Given the description of an element on the screen output the (x, y) to click on. 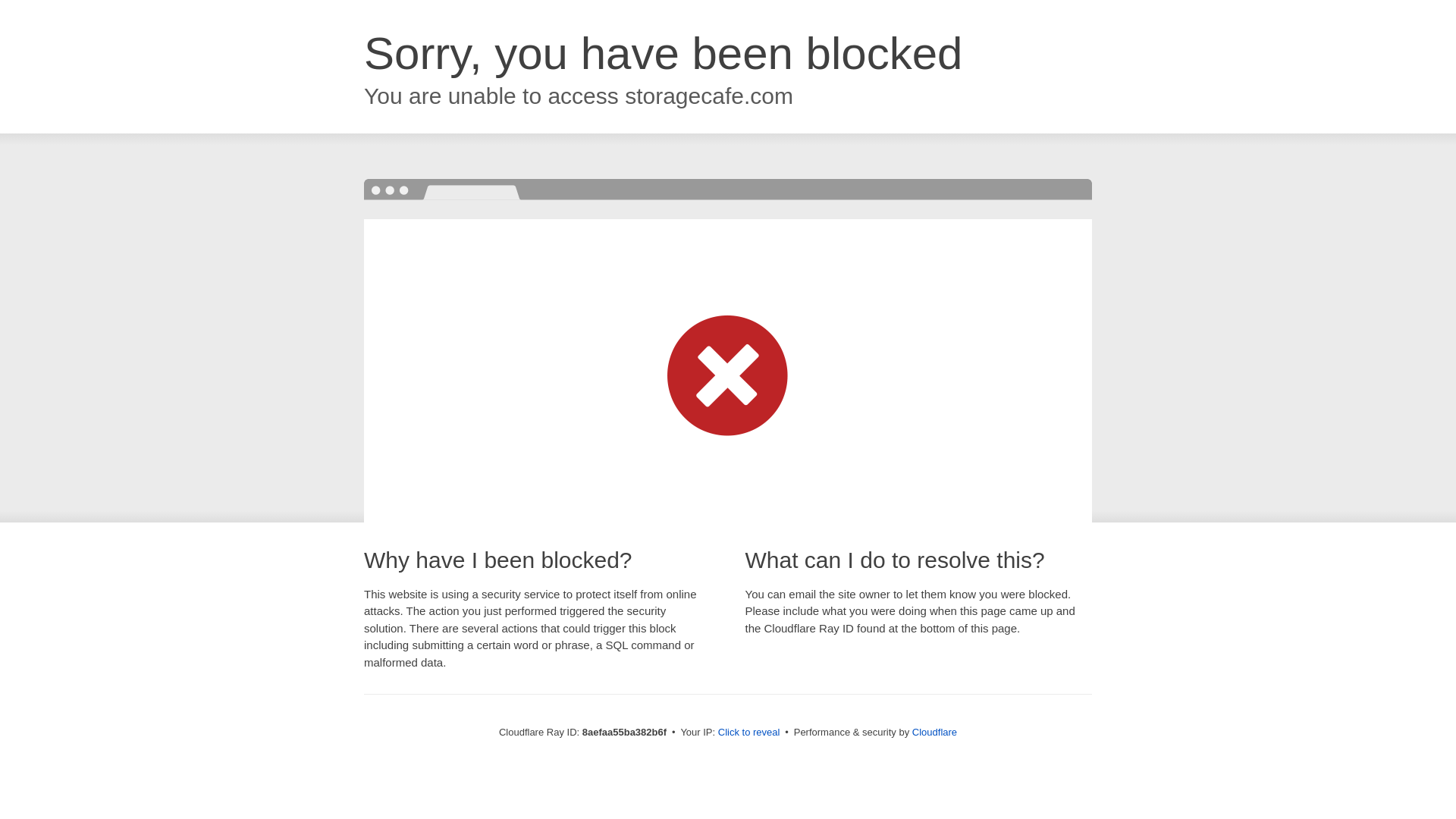
Click to reveal (748, 732)
Cloudflare (934, 731)
